Given the description of an element on the screen output the (x, y) to click on. 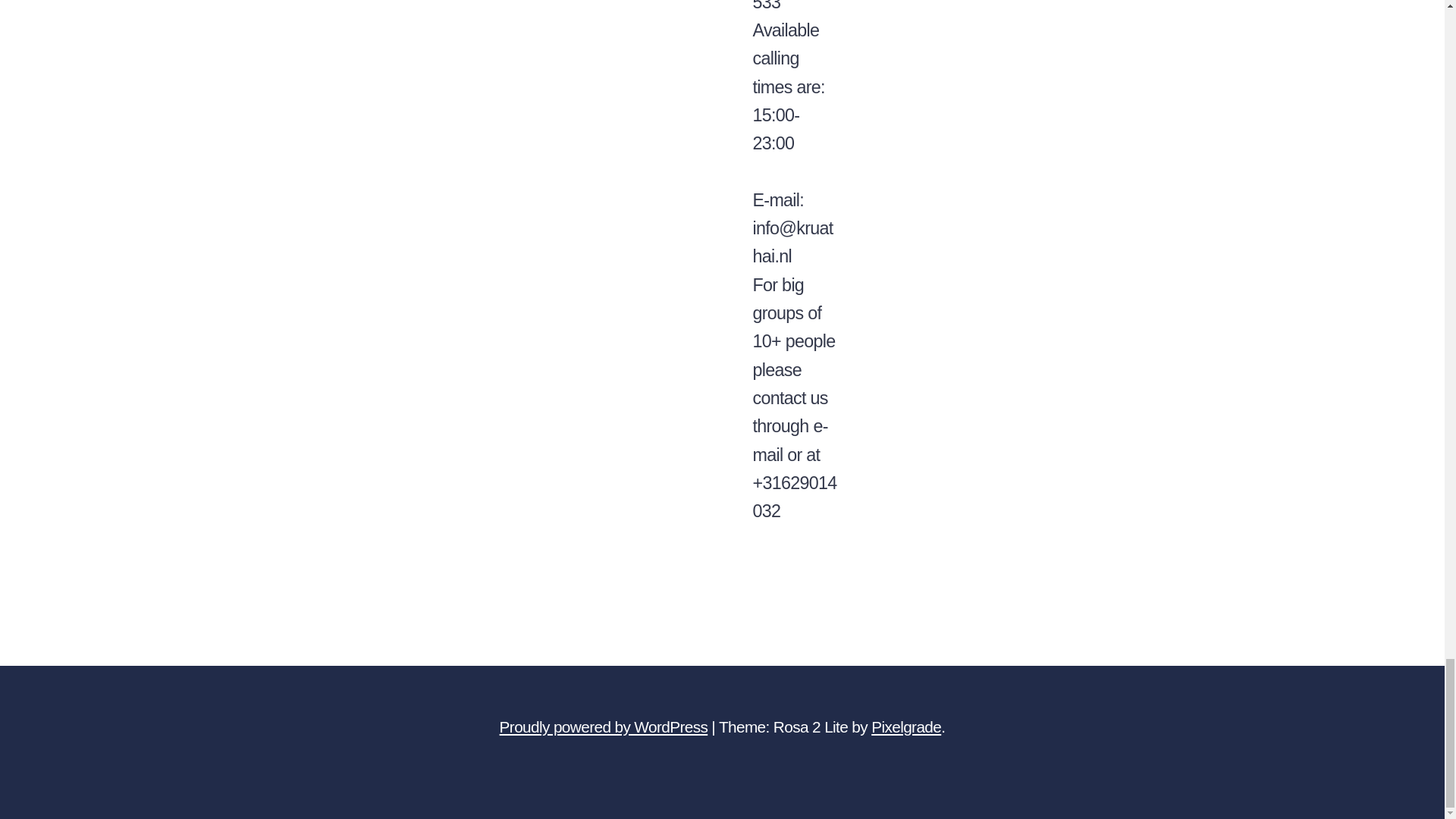
Proudly powered by WordPress (603, 726)
Pixelgrade (905, 726)
The Pixelgrade Website (905, 726)
